Given the description of an element on the screen output the (x, y) to click on. 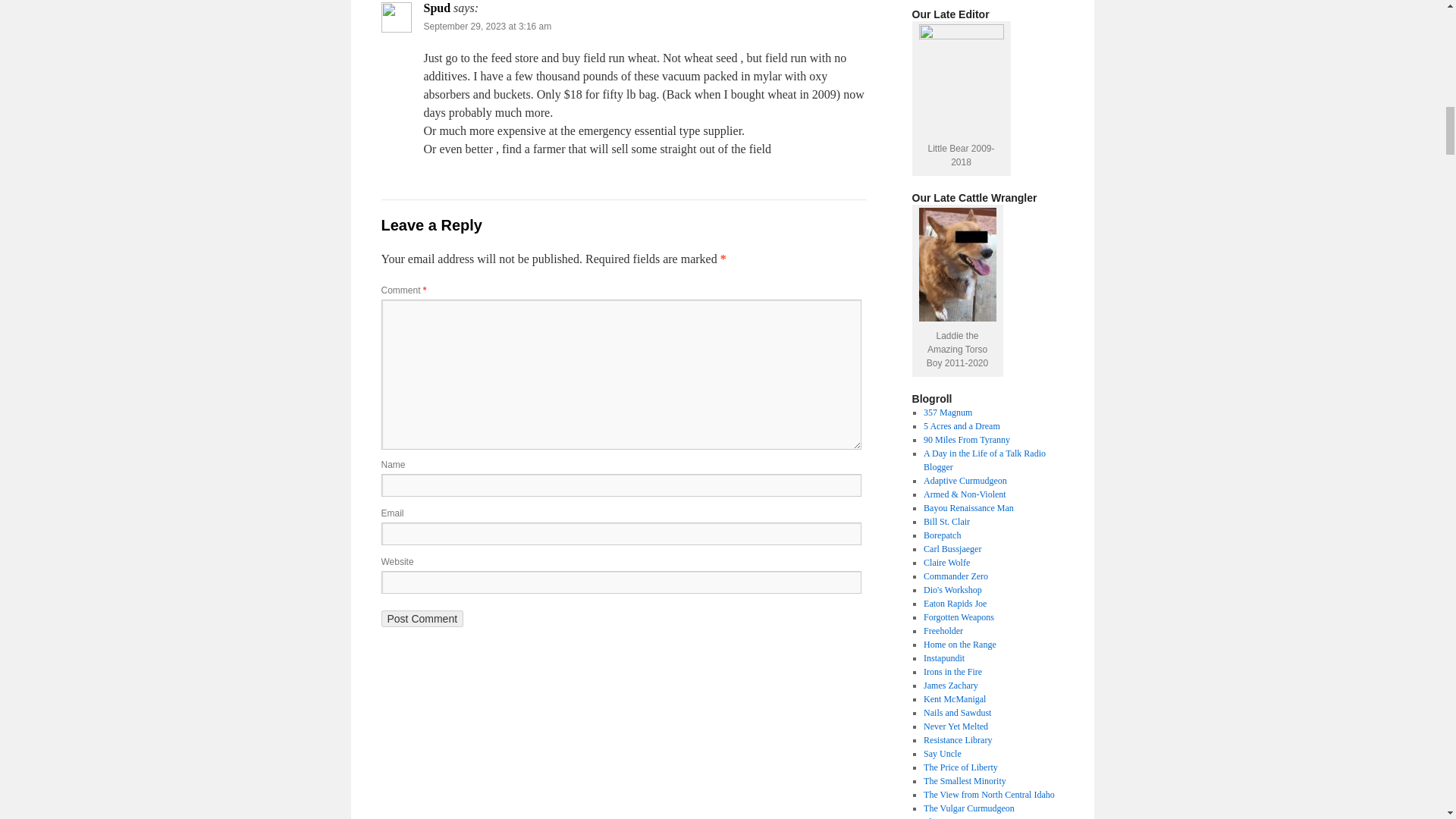
A Day in the Life of a Talk Radio Blogger (984, 459)
Adaptive Curmudgeon (965, 480)
357 Magnum (947, 412)
Post Comment (421, 618)
Bill St. Clair (946, 521)
5 Acres and a Dream (961, 425)
90 Miles From Tyranny (966, 439)
Post Comment (421, 618)
September 29, 2023 at 3:16 am (487, 26)
Bayou Renaissance Man (968, 507)
